Given the description of an element on the screen output the (x, y) to click on. 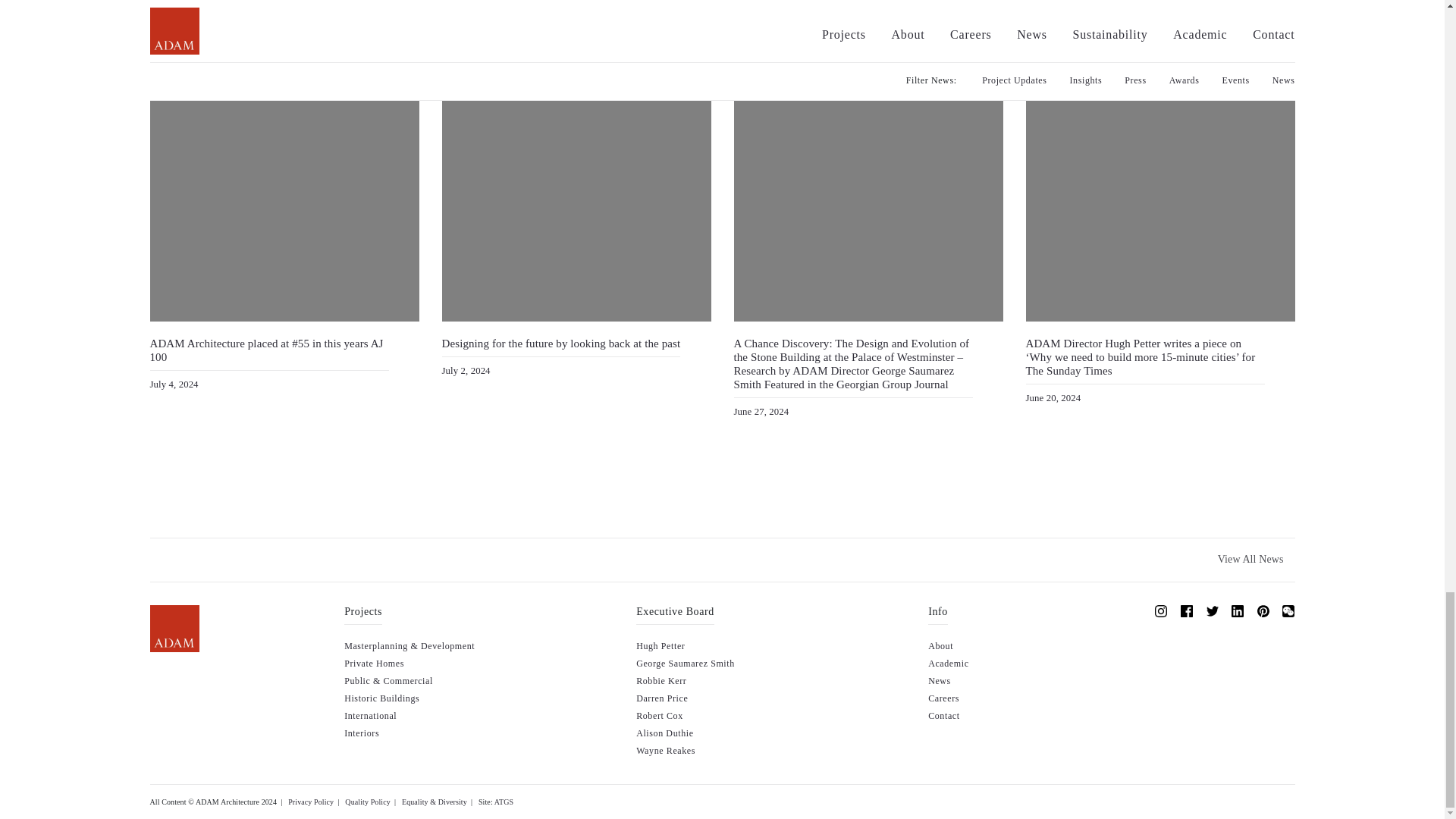
Alison Duthie (664, 733)
Historic Buildings (381, 697)
Interiors (360, 733)
George Saumarez Smith (685, 663)
Interiors (360, 733)
Wayne Reakes (665, 750)
Robert Cox (659, 715)
International (369, 715)
View All News (1251, 559)
Private Homes (373, 663)
Robbie Kerr (660, 680)
International (369, 715)
Private Homes (373, 663)
Hugh Petter (660, 645)
Historic Buildings (381, 697)
